Given the description of an element on the screen output the (x, y) to click on. 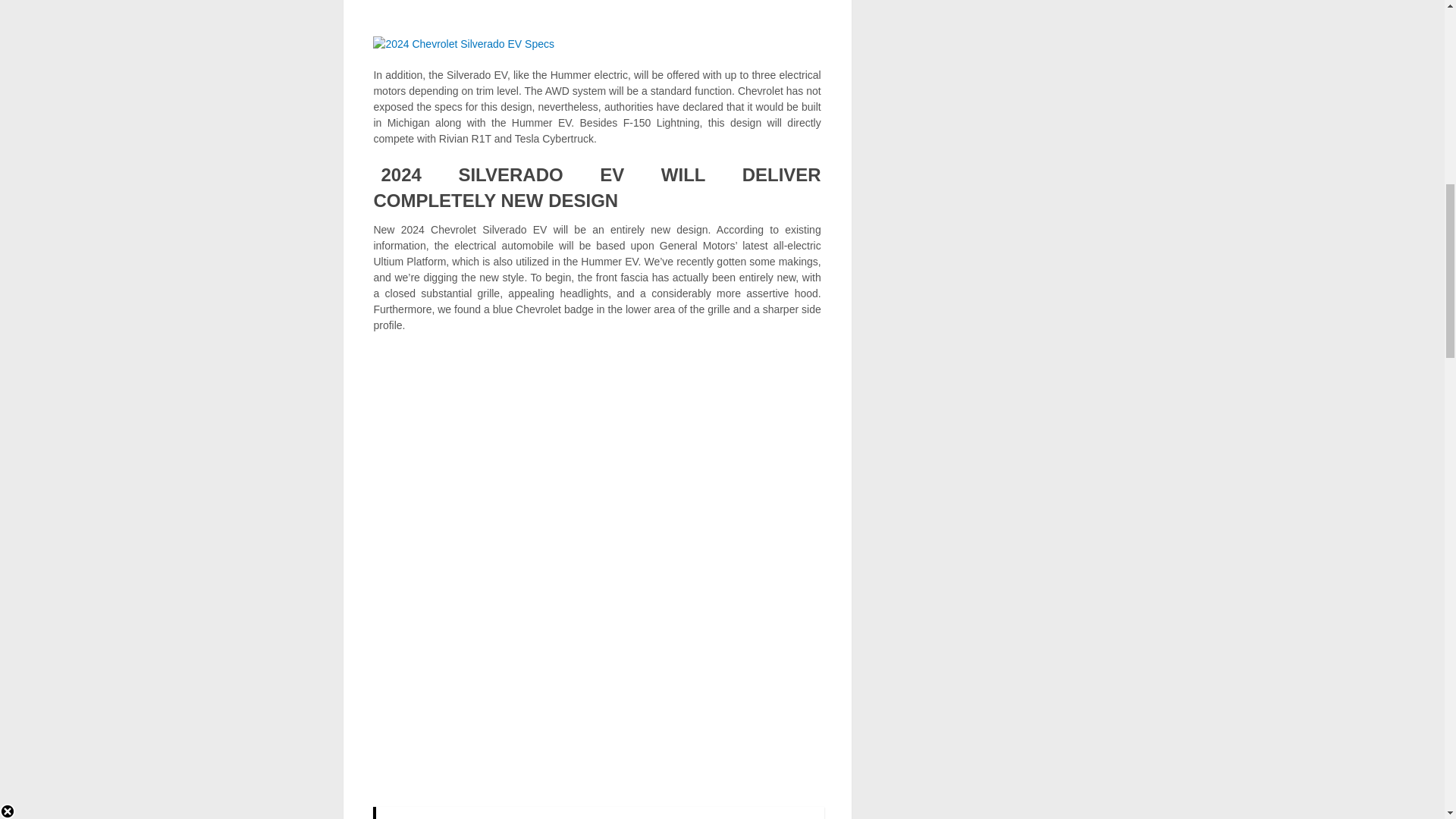
2024 Chevrolet Silverado EV Specs (463, 43)
